Given the description of an element on the screen output the (x, y) to click on. 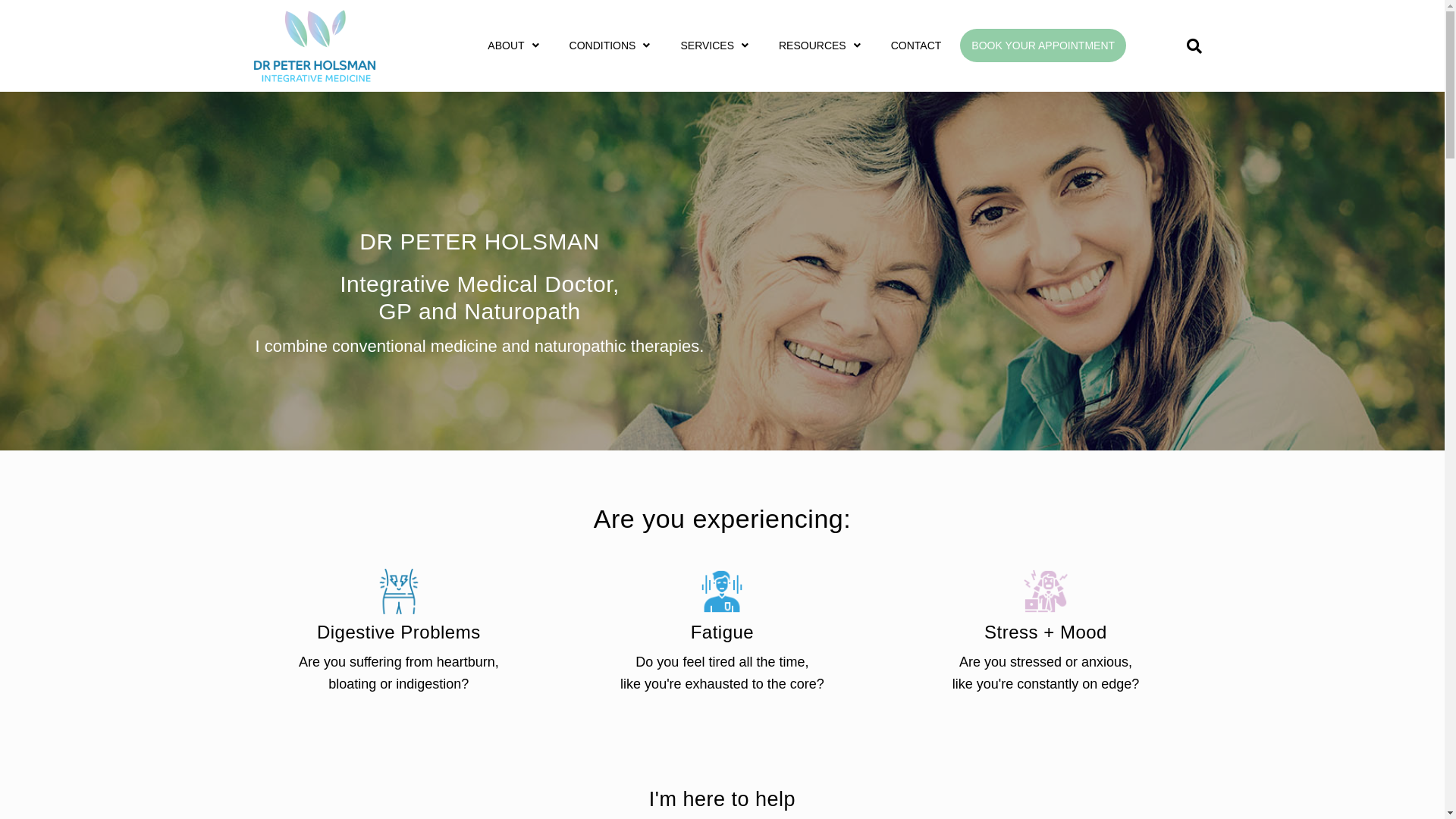
BOOK YOUR APPOINTMENT Element type: text (1043, 45)
Dr.Peter-Holsman_vertical.svg Element type: hover (313, 45)
SERVICES Element type: text (713, 45)
ABOUT Element type: text (512, 45)
CONTACT Element type: text (916, 45)
RESOURCES Element type: text (819, 45)
Skip to primary navigation Element type: text (0, 0)
CONDITIONS Element type: text (610, 45)
Subscribe! Element type: text (745, 476)
